Given the description of an element on the screen output the (x, y) to click on. 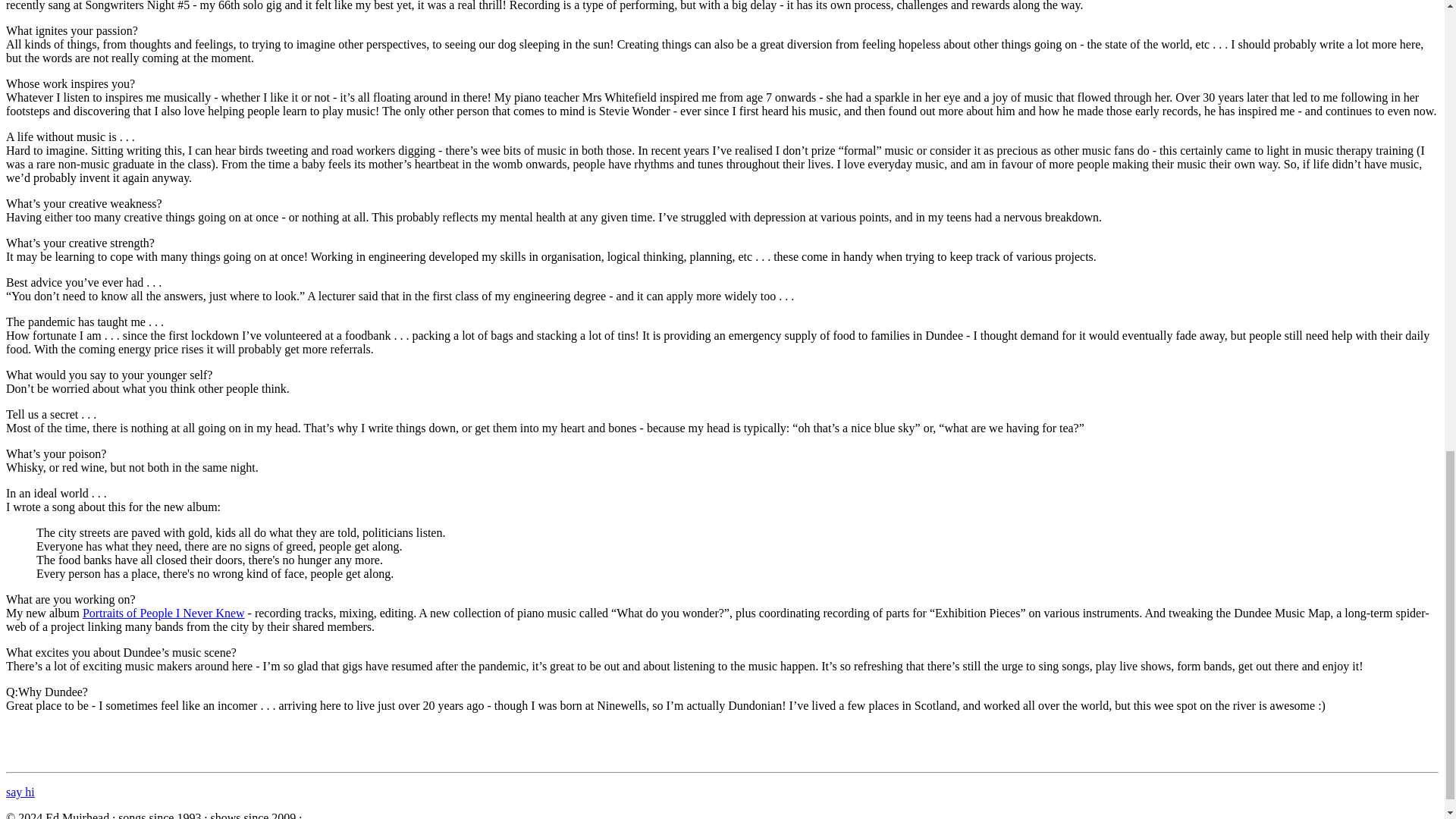
say hi (19, 791)
Portraits of People I Never Knew (163, 612)
